Given the description of an element on the screen output the (x, y) to click on. 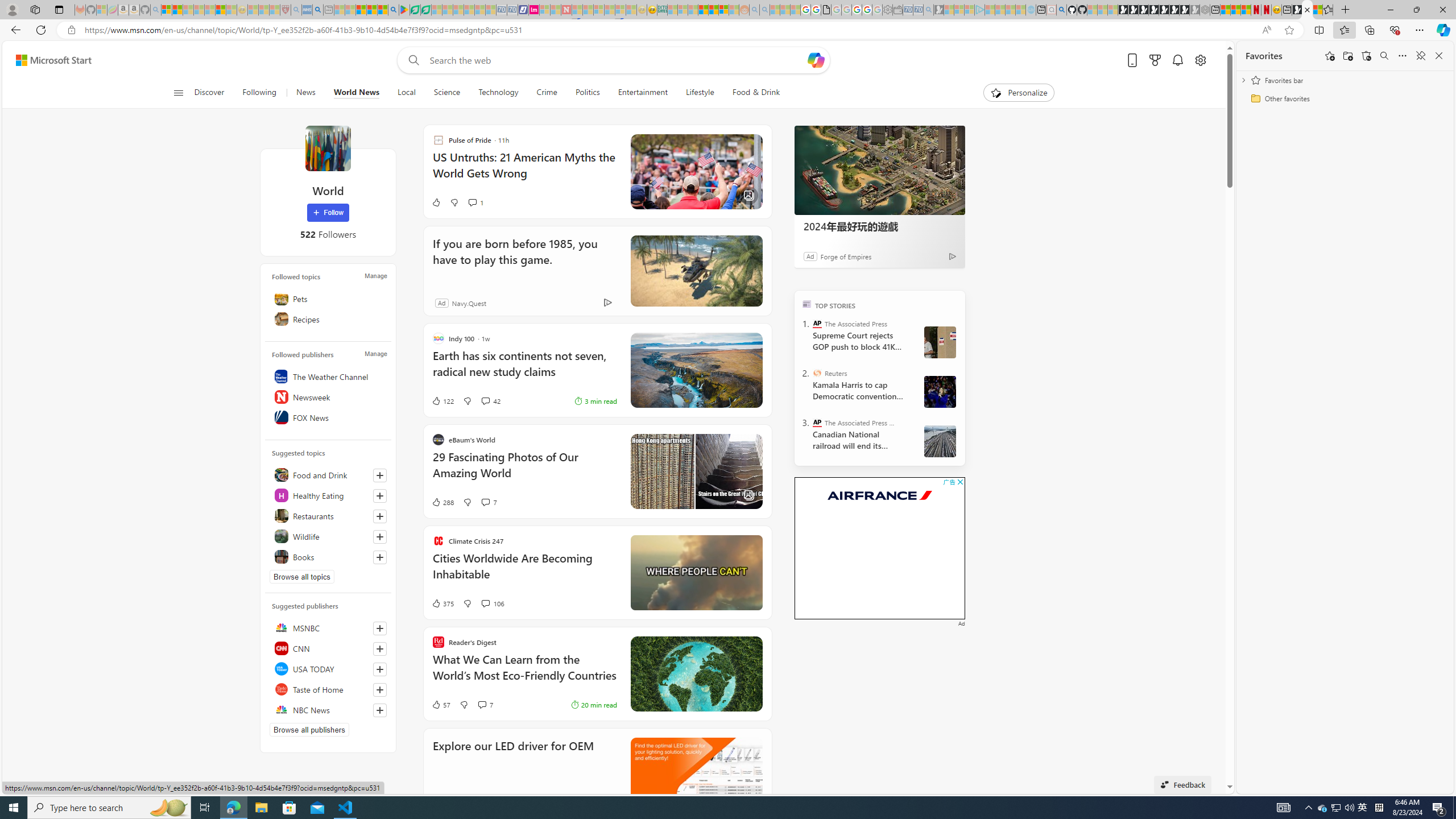
Science (446, 92)
CNN (327, 647)
View comments 106 Comment (485, 602)
utah sues federal government - Search (317, 9)
The Associated Press (816, 323)
Manage (375, 353)
Close favorites (1439, 55)
If you are born before 1985, you have to play this game. (521, 259)
Skip to content (49, 59)
